Given the description of an element on the screen output the (x, y) to click on. 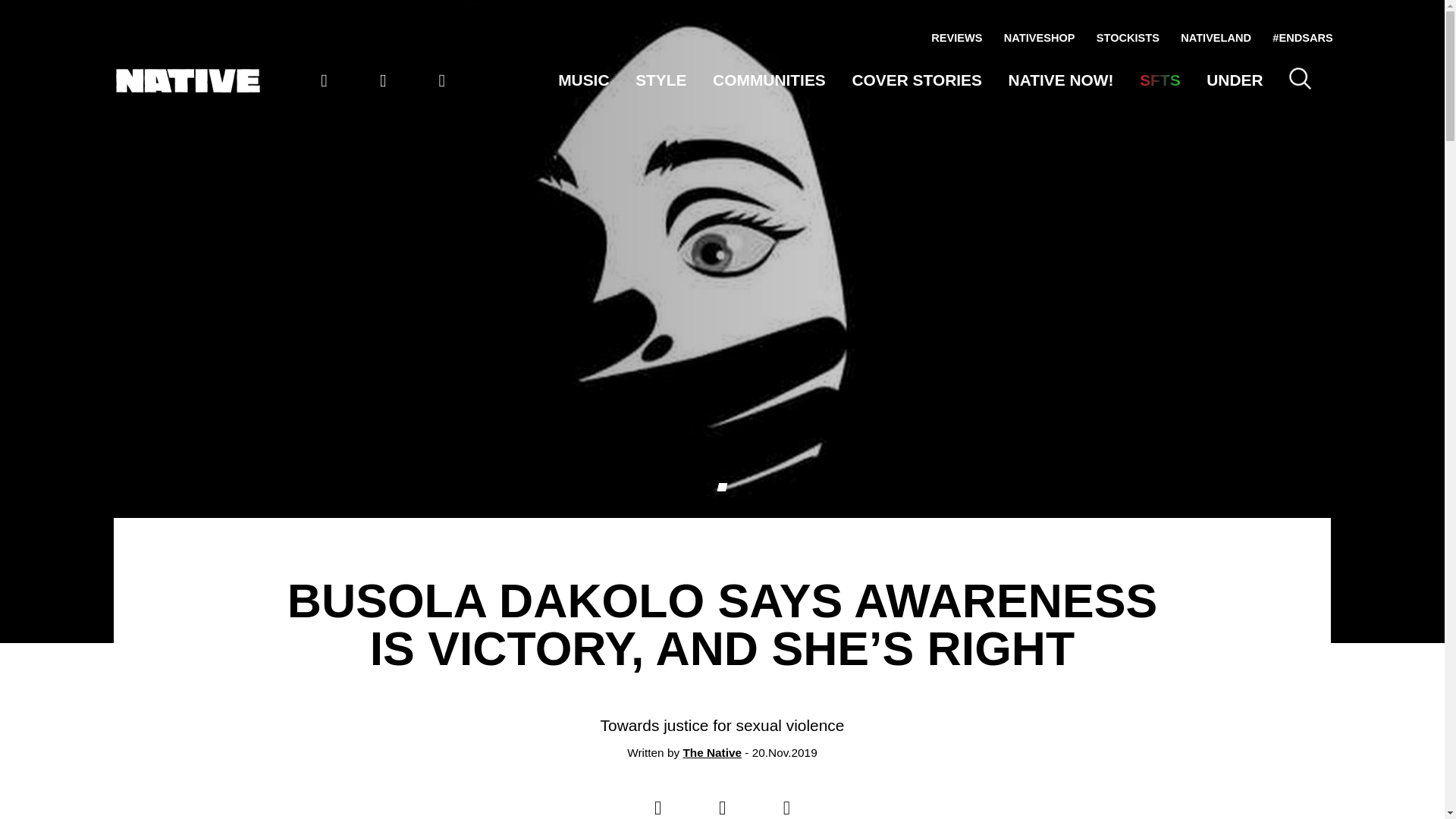
Facebook (440, 80)
REVIEWS (956, 37)
COVER STORIES (916, 79)
MUSIC (582, 79)
STYLE (659, 79)
Twitter (382, 80)
NATIVELAND (1215, 37)
STOCKISTS (1127, 37)
SEARCH (1299, 78)
COMMUNITIES (769, 79)
